Given the description of an element on the screen output the (x, y) to click on. 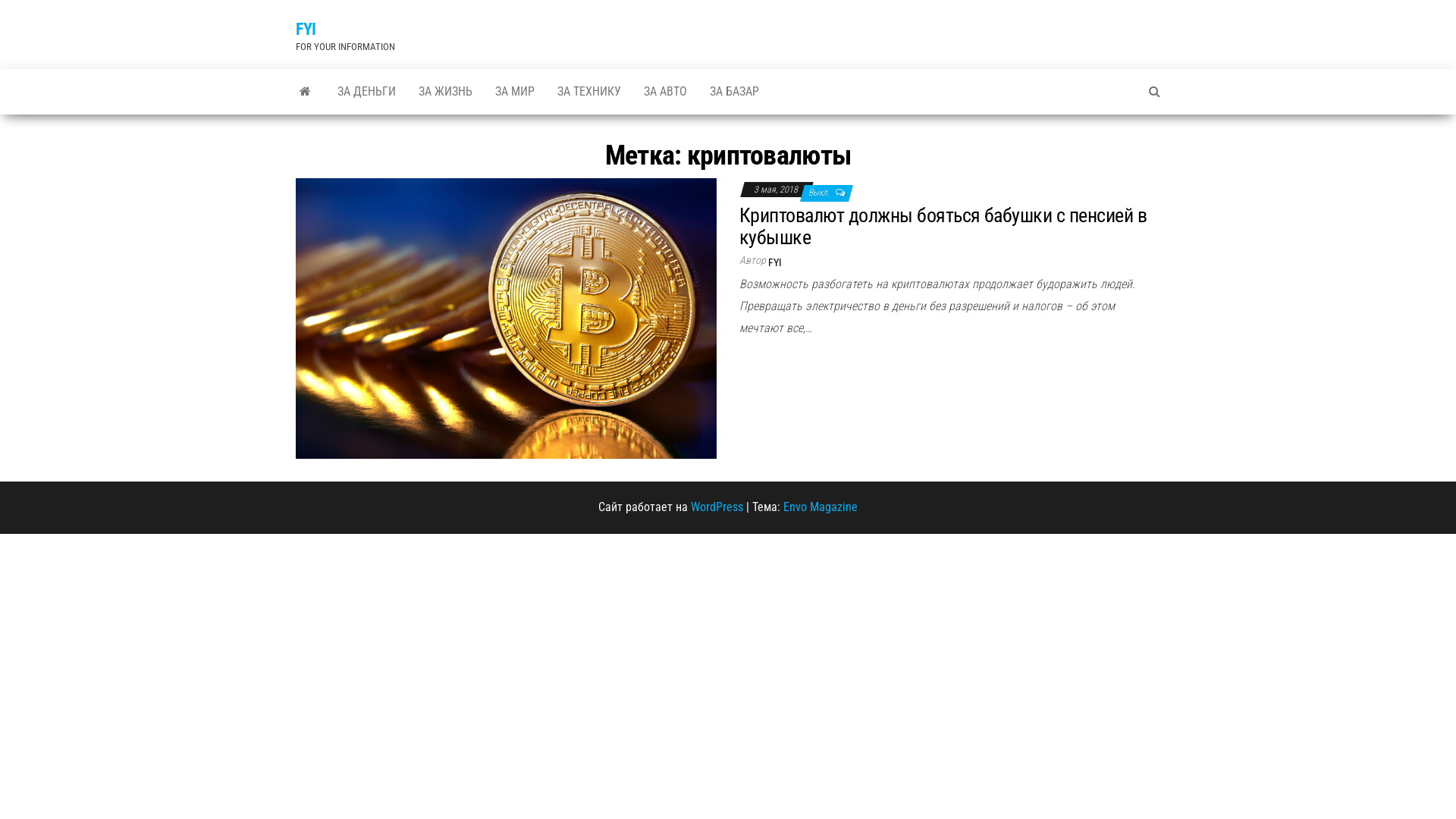
WordPress Element type: text (716, 506)
FYI Element type: hover (305, 91)
FYI Element type: text (774, 262)
Envo Magazine Element type: text (820, 506)
FYI Element type: text (305, 28)
